Given the description of an element on the screen output the (x, y) to click on. 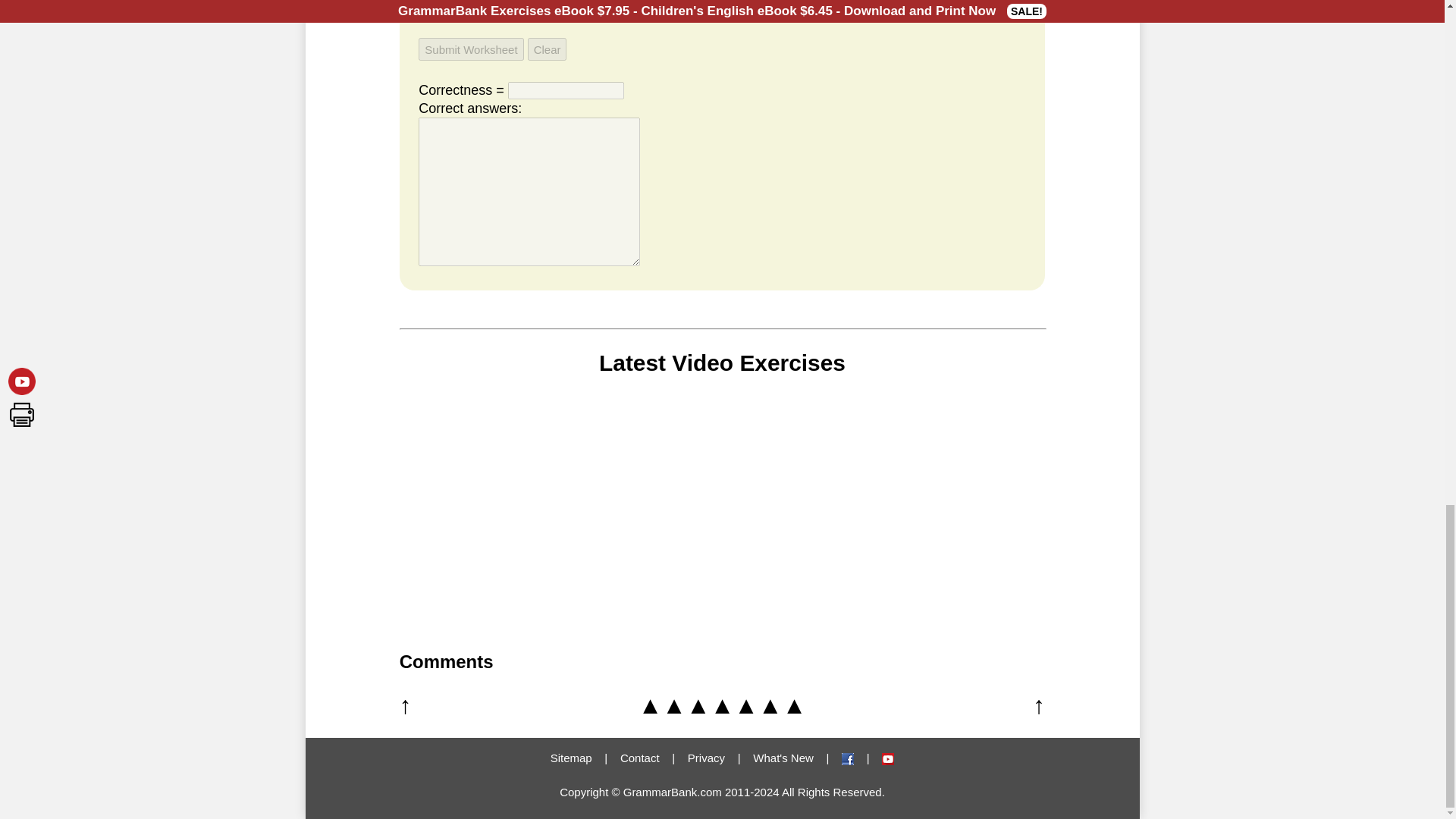
Top of the page (721, 705)
Clear (547, 48)
Like us on Facebook (847, 758)
Submit Worksheet (470, 48)
GrammarBank Video Exercises (887, 758)
